Given the description of an element on the screen output the (x, y) to click on. 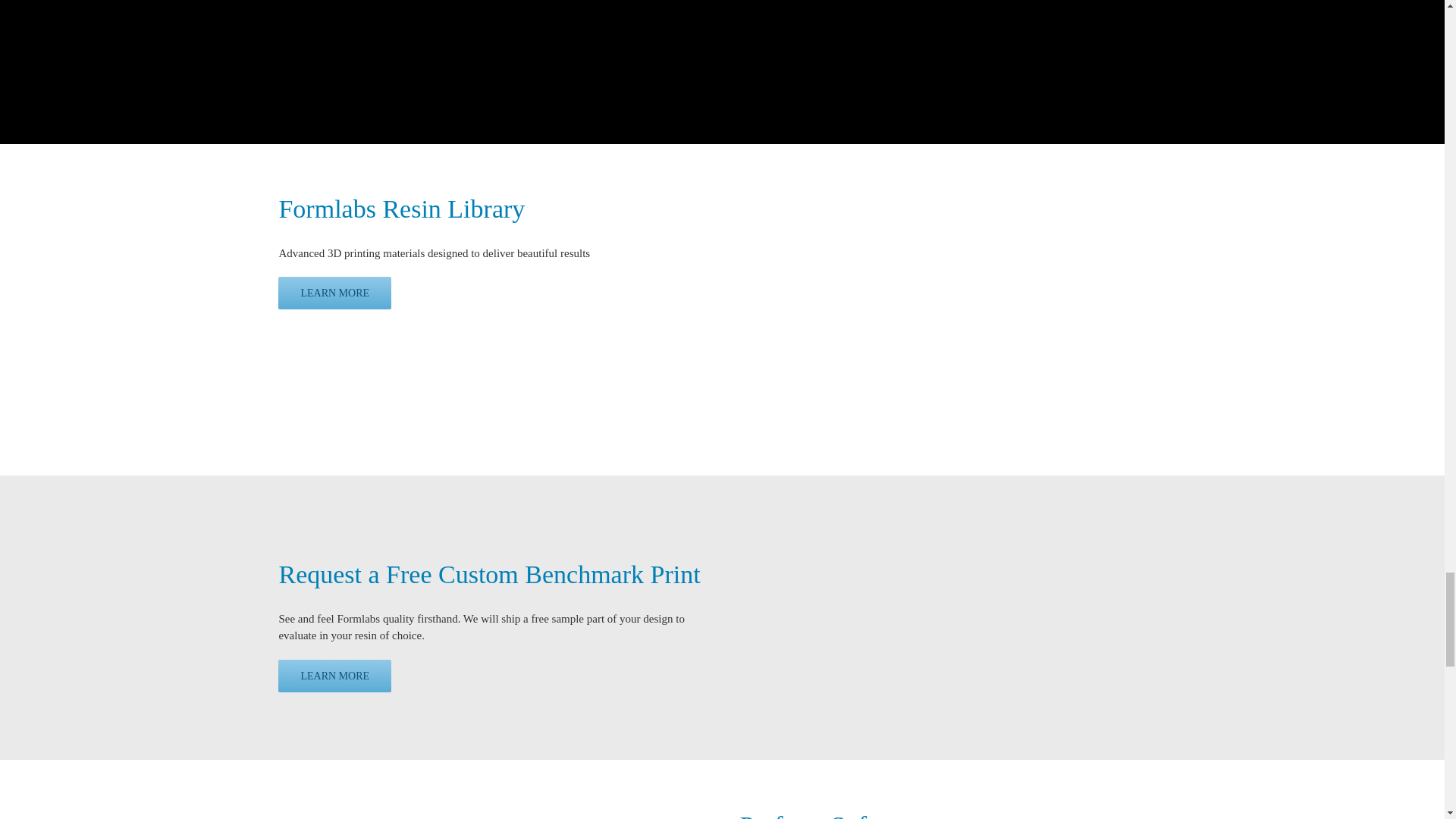
resin library (933, 304)
preform (472, 804)
benchmark engineers (952, 612)
